Given the description of an element on the screen output the (x, y) to click on. 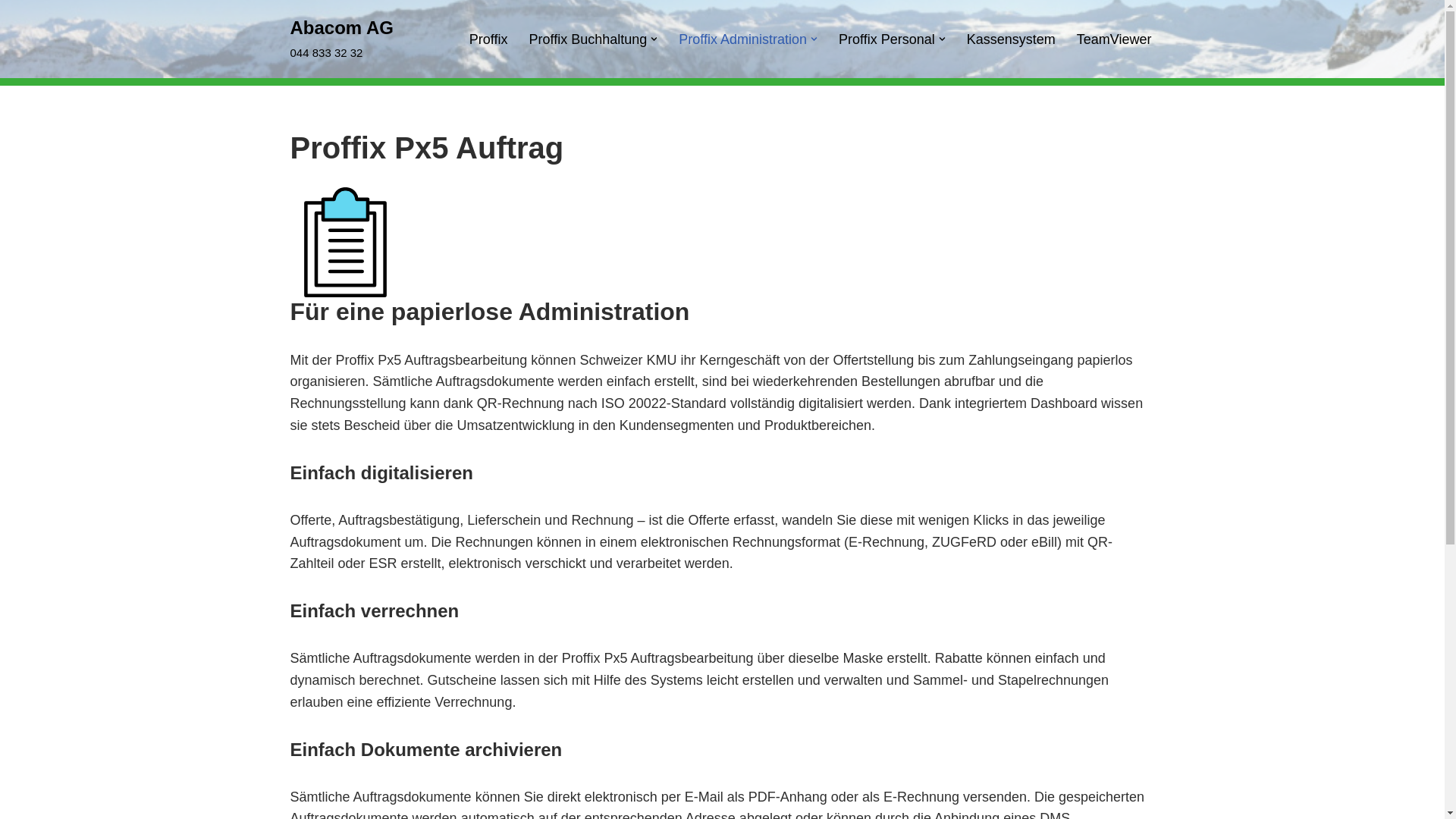
Proffix Personal Element type: text (886, 39)
Zum Inhalt springen Element type: text (11, 31)
Proffix Buchhaltung Element type: text (587, 39)
Kassensystem Element type: text (1010, 39)
Proffix Administration Element type: text (742, 39)
TeamViewer Element type: text (1113, 39)
Abacom AG
044 833 32 32 Element type: text (340, 38)
Proffix Element type: text (488, 39)
